Given the description of an element on the screen output the (x, y) to click on. 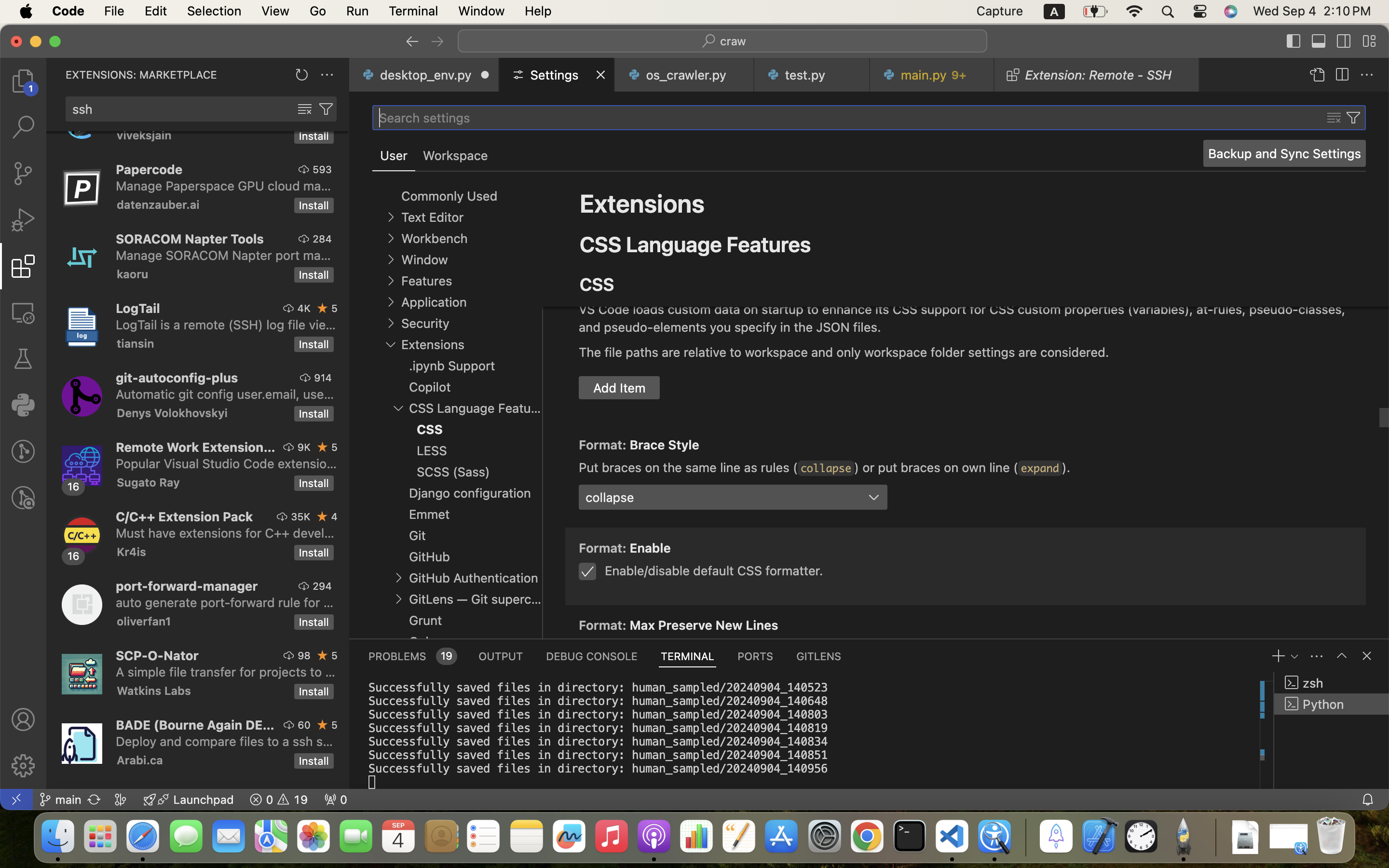
0  Element type: AXRadioButton (23, 80)
 Element type: AXButton (1316, 74)
Grunt Element type: AXStaticText (425, 620)
 Element type: AXStaticText (554, 259)
1 Settings   Element type: AXRadioButton (557, 74)
